Given the description of an element on the screen output the (x, y) to click on. 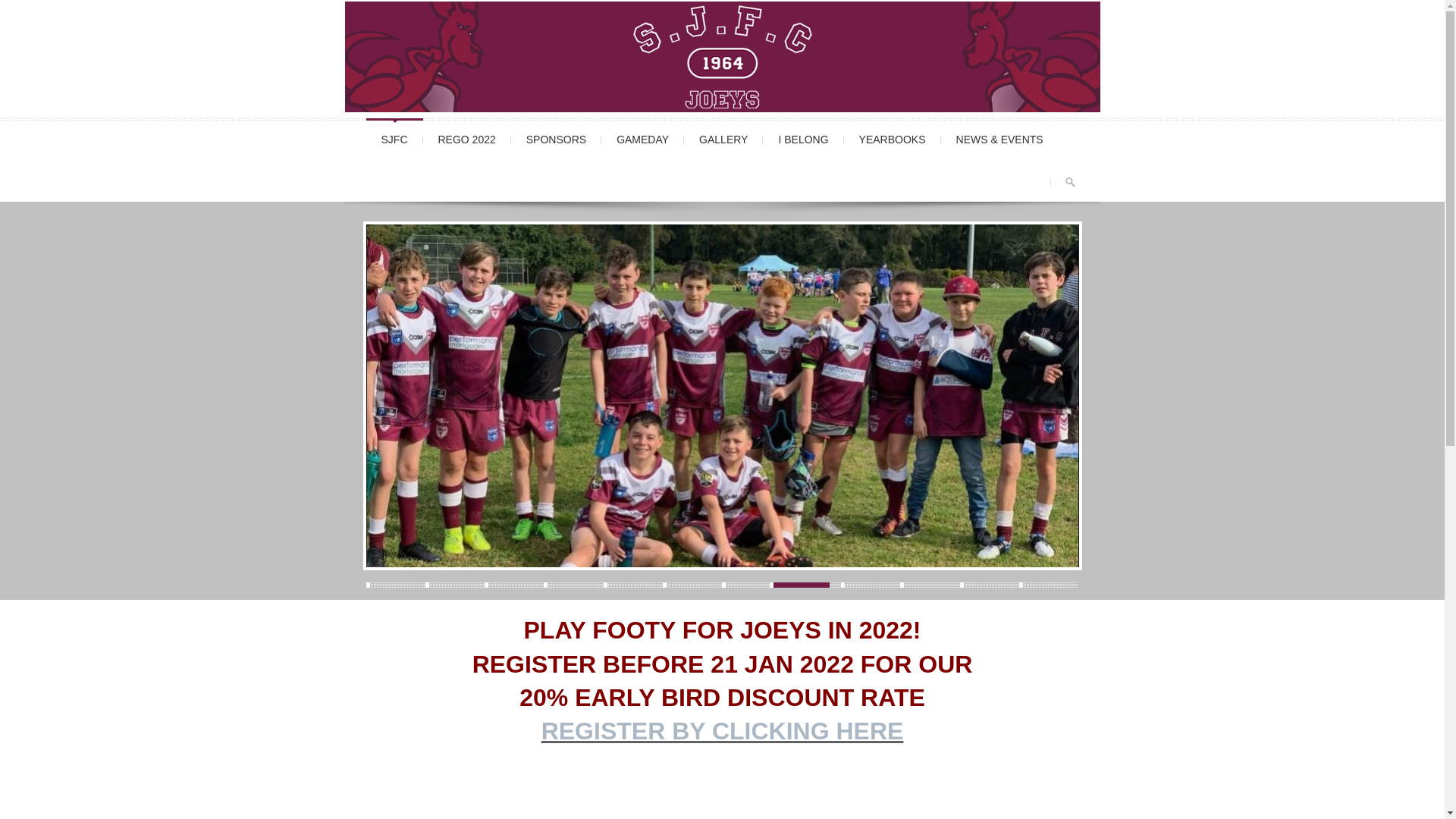
REGISTER BY CLICKING HER Element type: text (714, 730)
NEWS & EVENTS Element type: text (999, 138)
Current Element type: text (782, 584)
GAMEDAY Element type: text (642, 138)
SPONSORS Element type: text (556, 138)
YEARBOOKS Element type: text (892, 138)
E Element type: text (895, 730)
I BELONG Element type: text (802, 138)
GALLERY Element type: text (723, 138)
REGO 2022 Element type: text (467, 138)
SJFC Element type: text (393, 138)
